Given the description of an element on the screen output the (x, y) to click on. 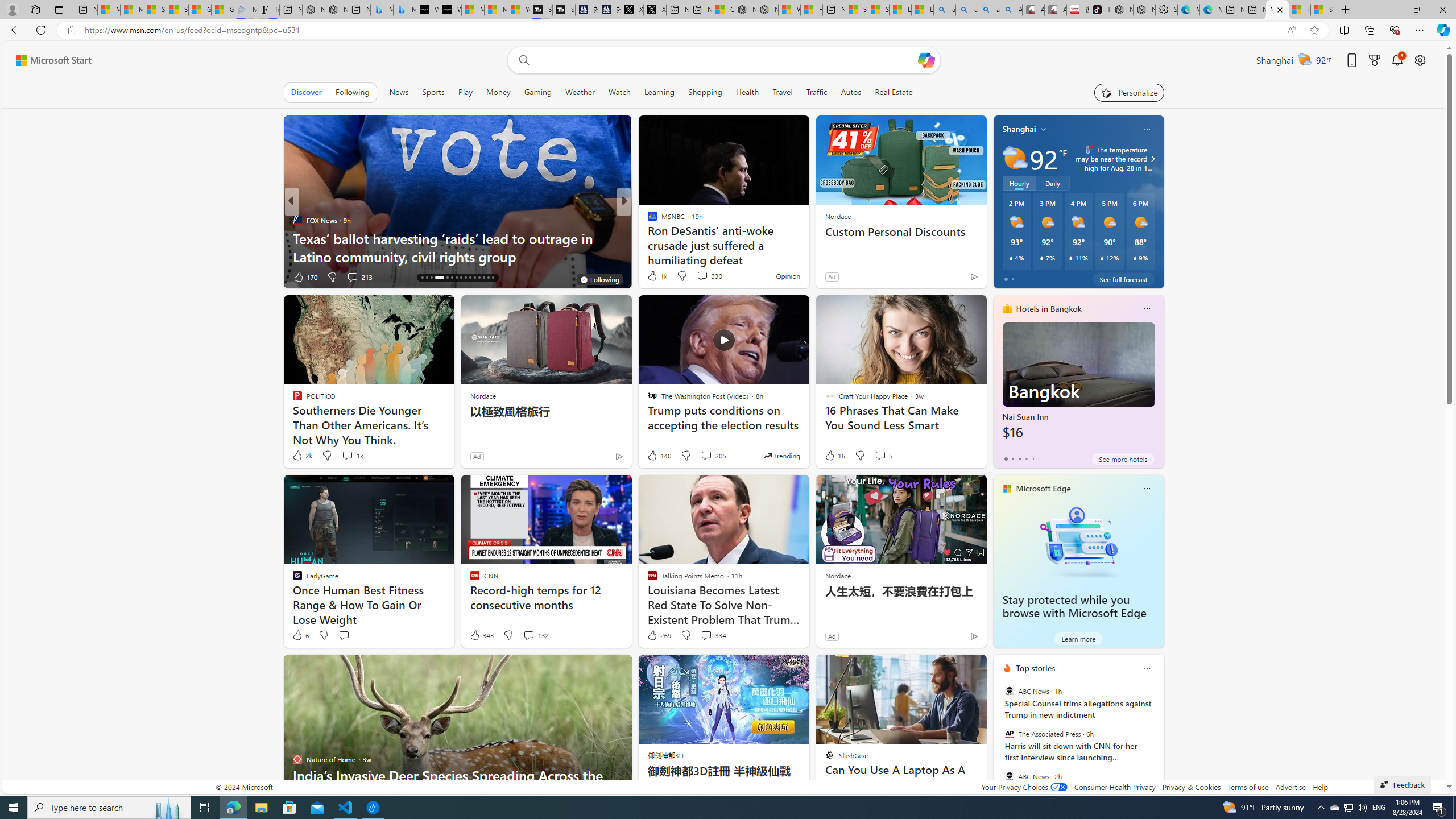
Nordace - Best Sellers (1122, 9)
Skip to footer (46, 59)
tab-3 (1025, 458)
